Given the description of an element on the screen output the (x, y) to click on. 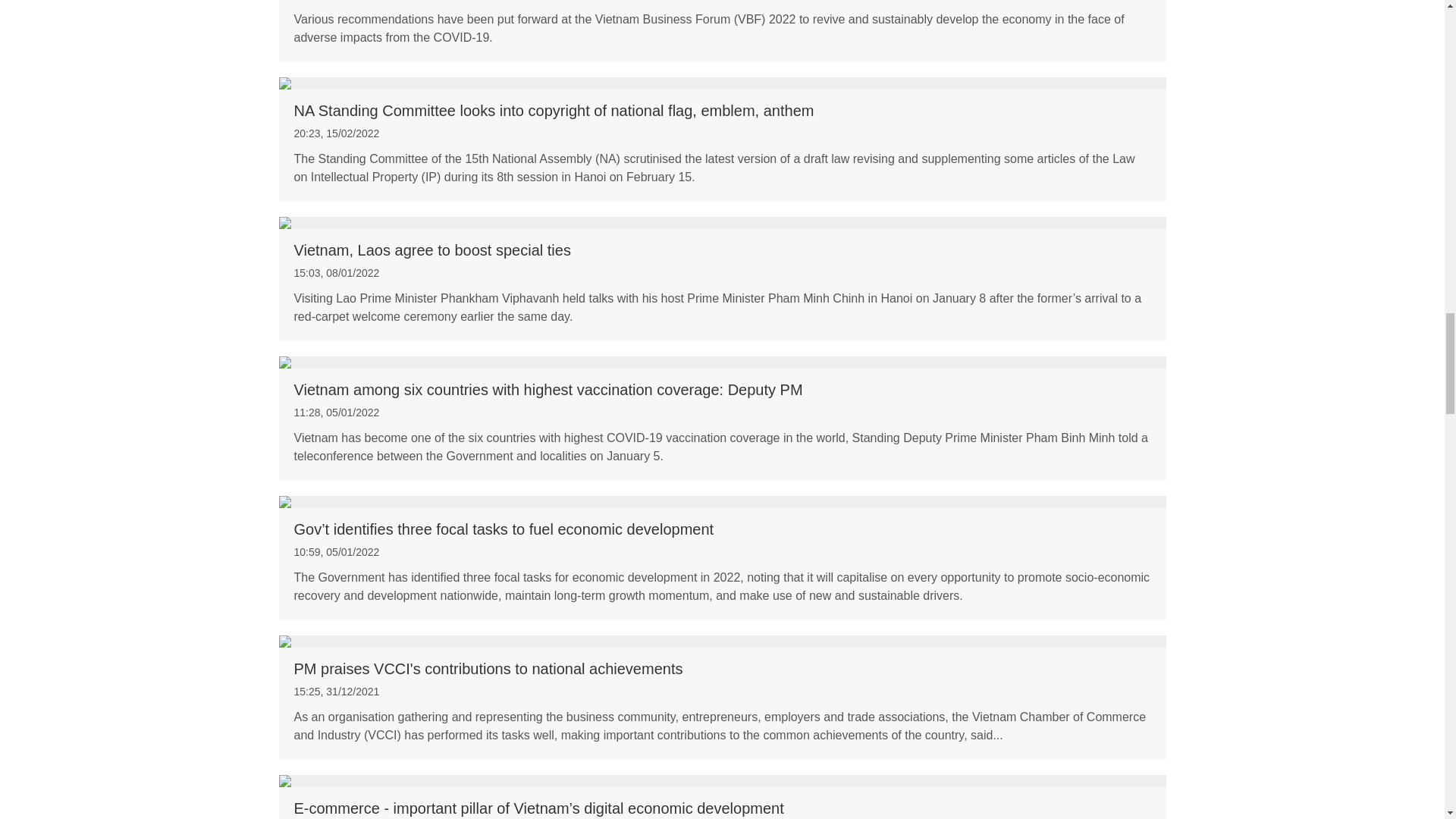
Vietnam, Laos agree to boost special ties (722, 250)
PM praises VCCI's contributions to national achievements  (722, 641)
Vietnam, Laos agree to boost special ties (722, 250)
Vietnam, Laos agree to boost special ties (722, 223)
PM praises VCCI's contributions to national achievements (722, 668)
